Given the description of an element on the screen output the (x, y) to click on. 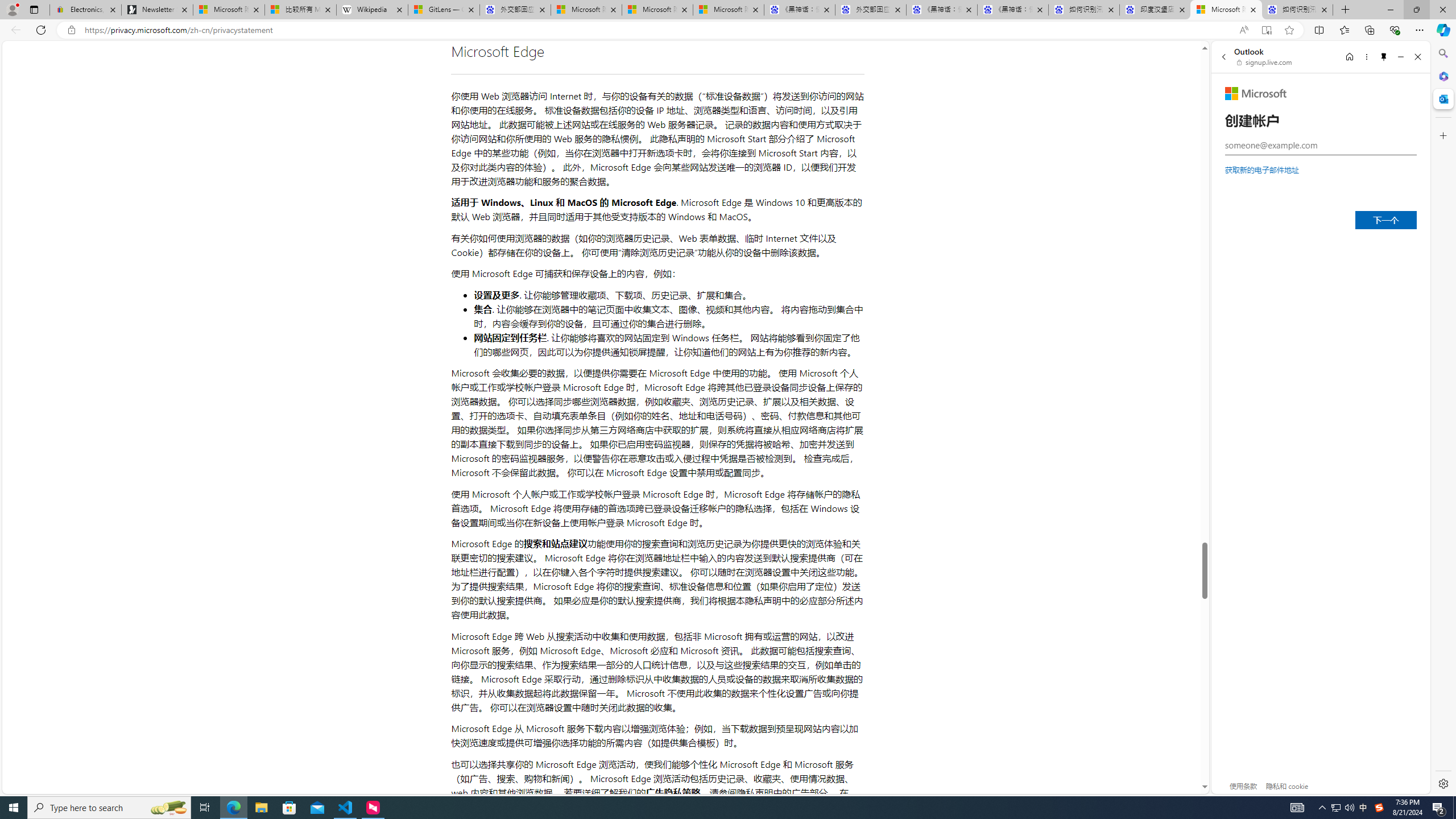
Close Outlook pane (1442, 98)
View site information (70, 29)
Electronics, Cars, Fashion, Collectibles & More | eBay (85, 9)
Split screen (1318, 29)
Minimize (1401, 56)
Collections (1369, 29)
Tab actions menu (33, 9)
Side bar (1443, 418)
Microsoft (1255, 93)
Wikipedia (372, 9)
